Given the description of an element on the screen output the (x, y) to click on. 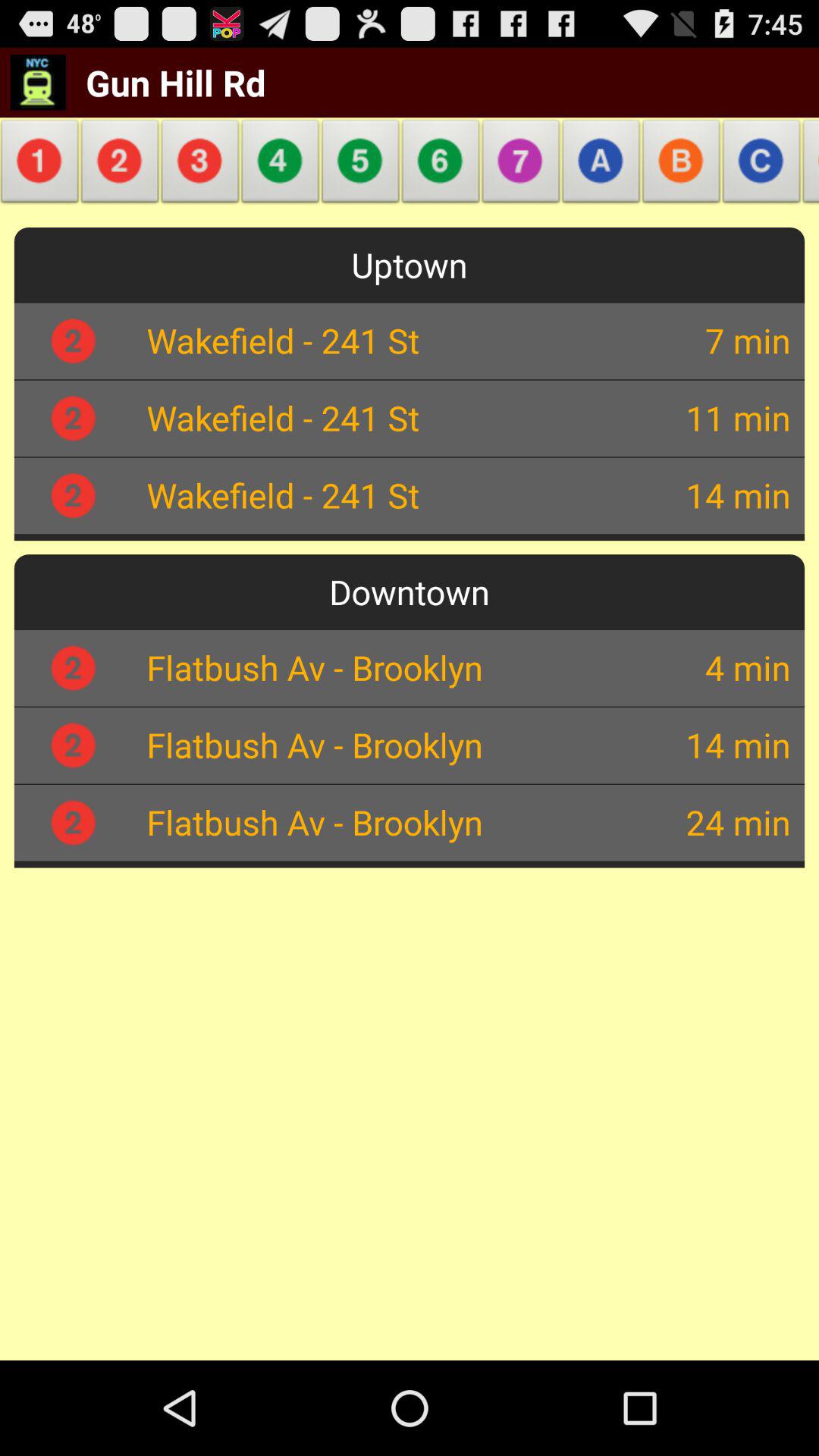
launch icon above the uptown icon (807, 165)
